Given the description of an element on the screen output the (x, y) to click on. 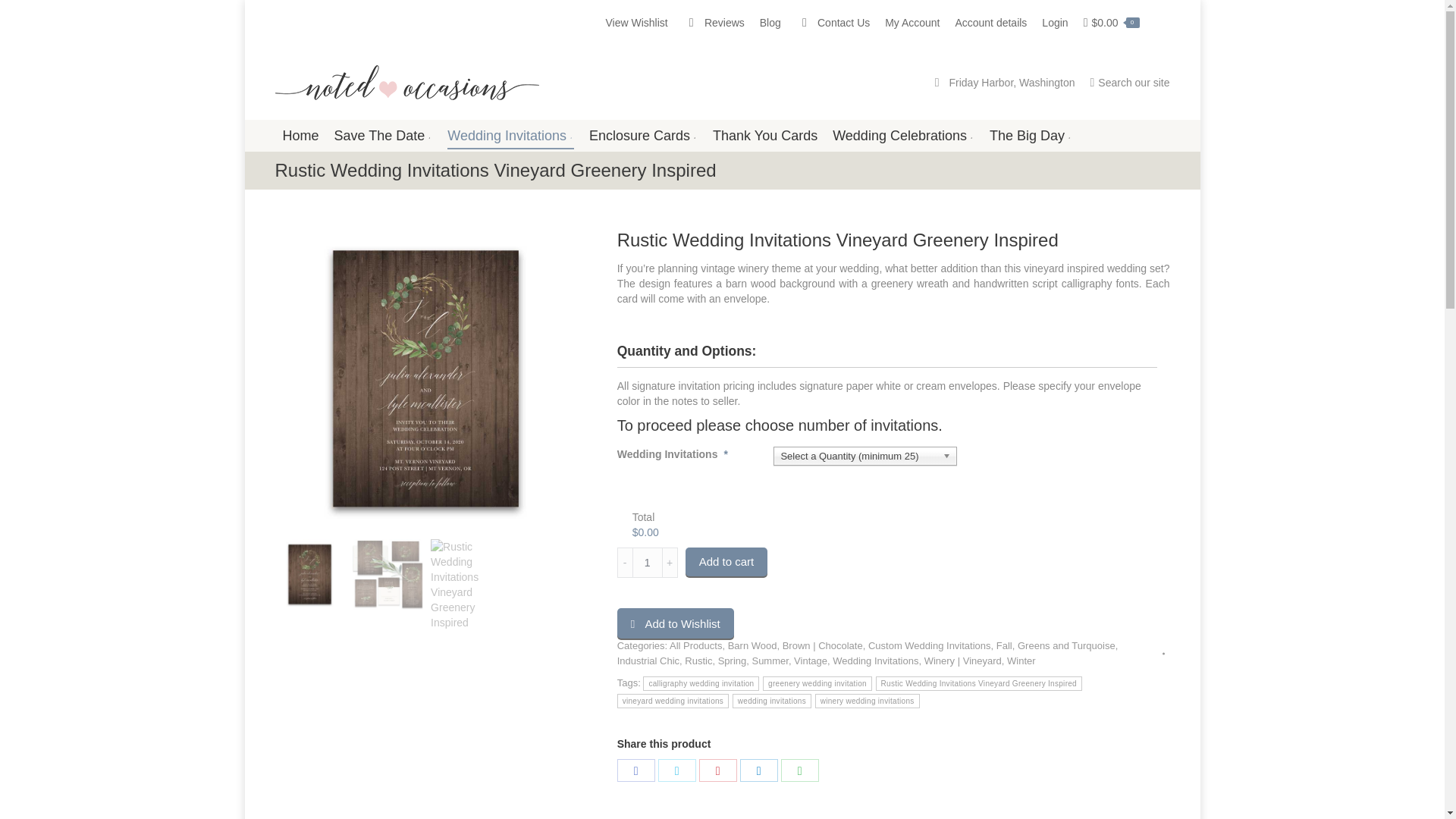
Blog (770, 22)
WhatsApp (799, 770)
Thank You Cards (764, 135)
vineyard-wedding-invitations-greenery (426, 379)
Save The Date (383, 135)
Pinterest (717, 770)
Facebook (636, 770)
1 (646, 562)
Home (300, 135)
Reviews (713, 22)
Login (1054, 22)
Wedding Invitations (509, 135)
Enclosure Cards (642, 135)
The Big Day (1030, 135)
Search our site (1129, 82)
